Given the description of an element on the screen output the (x, y) to click on. 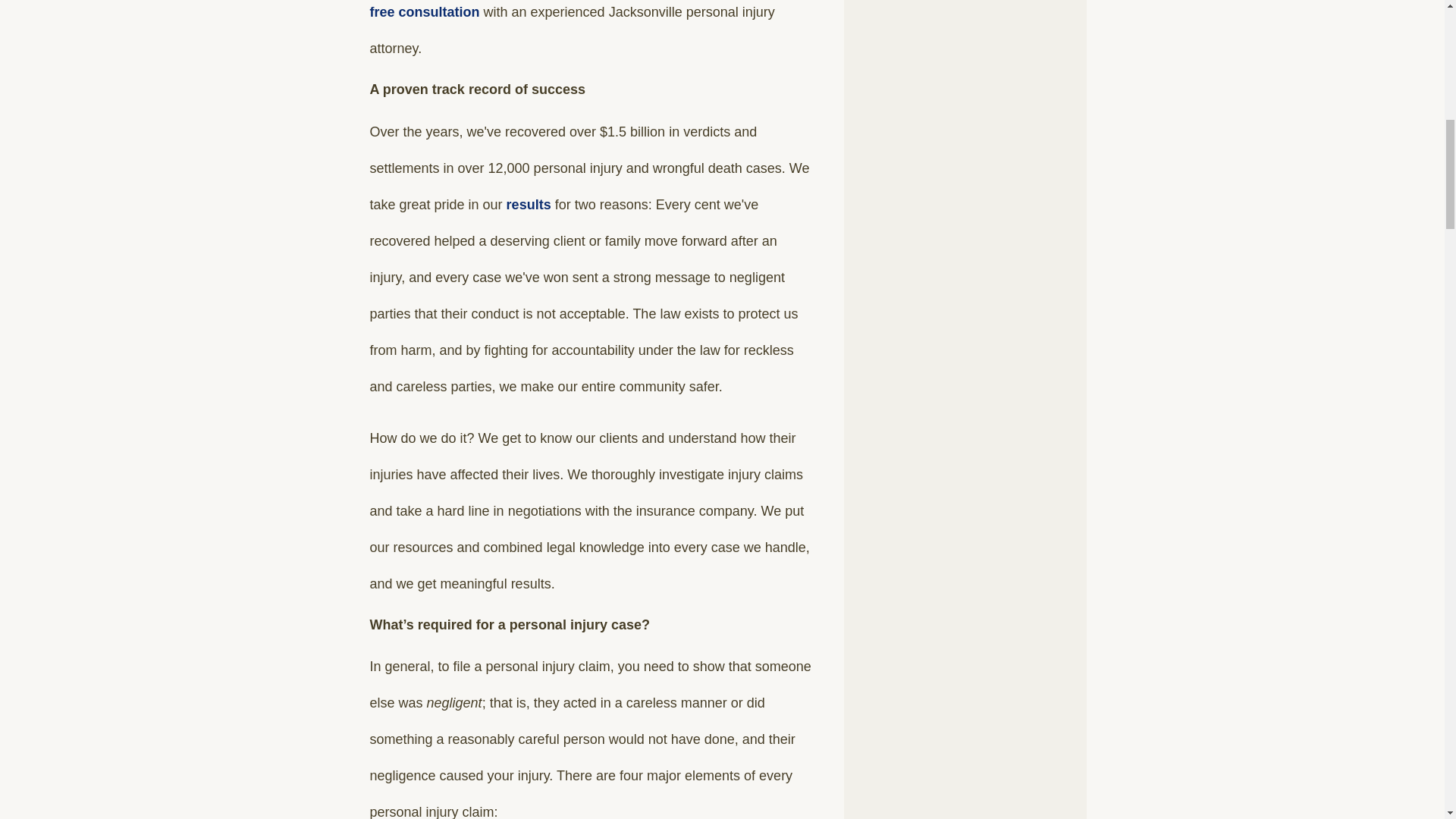
Free Case Evaluation (424, 11)
free consultation (424, 11)
Case Results (528, 204)
results (528, 204)
